Given the description of an element on the screen output the (x, y) to click on. 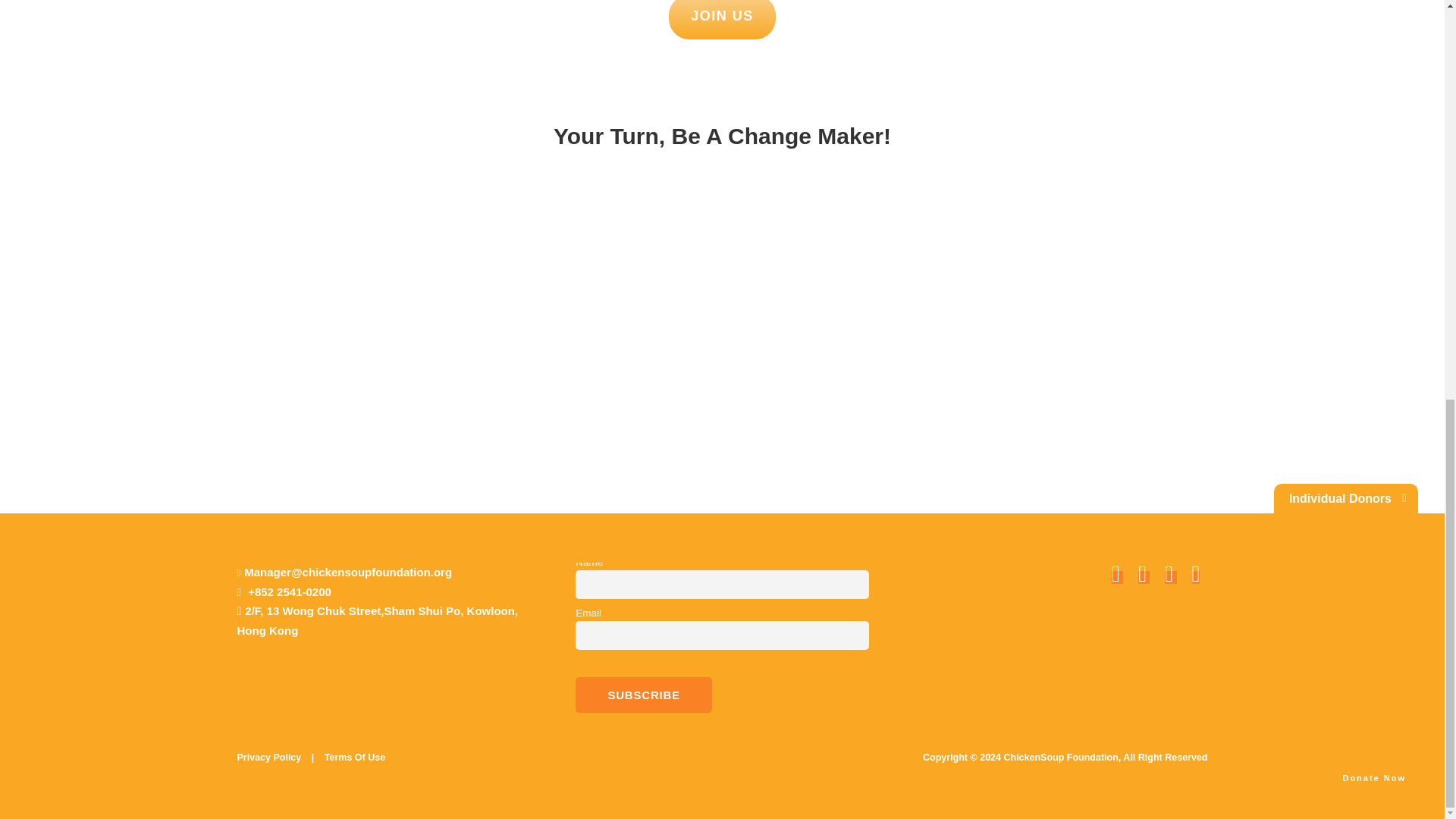
JOIN US (721, 324)
Subscribe (722, 19)
Subscribe (643, 694)
